Given the description of an element on the screen output the (x, y) to click on. 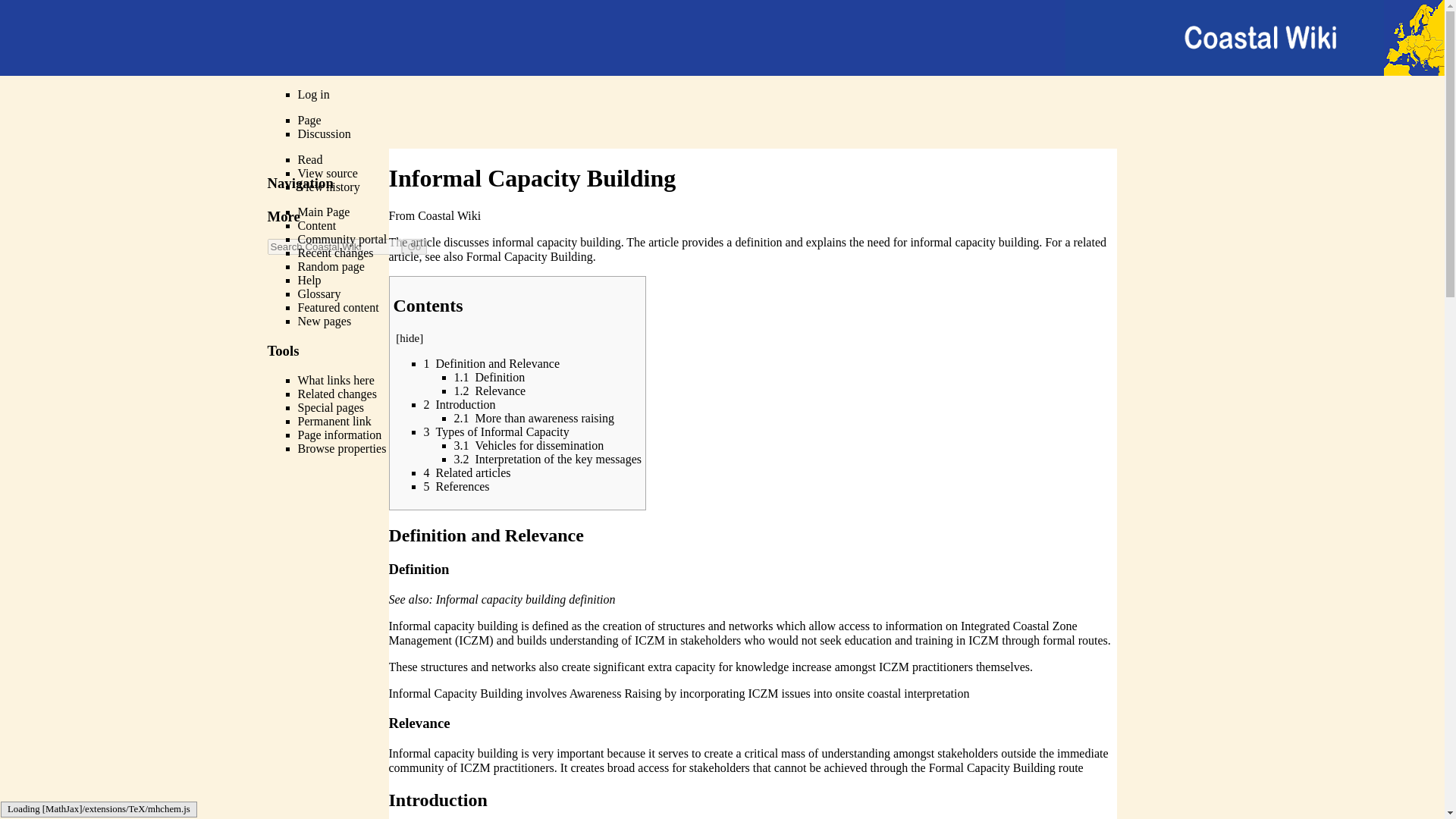
Formal Capacity Building (528, 256)
Formal Capacity Building (528, 256)
5 References (456, 486)
1 Definition and Relevance (491, 363)
Glossary (318, 293)
Main Page (323, 211)
Discussion (323, 133)
Recent changes (334, 252)
About the project, what you can do, where to find things (342, 238)
Random page (330, 266)
Permanent link to this revision of the page (334, 420)
1.1 Definition (488, 377)
What links here (335, 379)
View source (326, 173)
Read (309, 159)
